Given the description of an element on the screen output the (x, y) to click on. 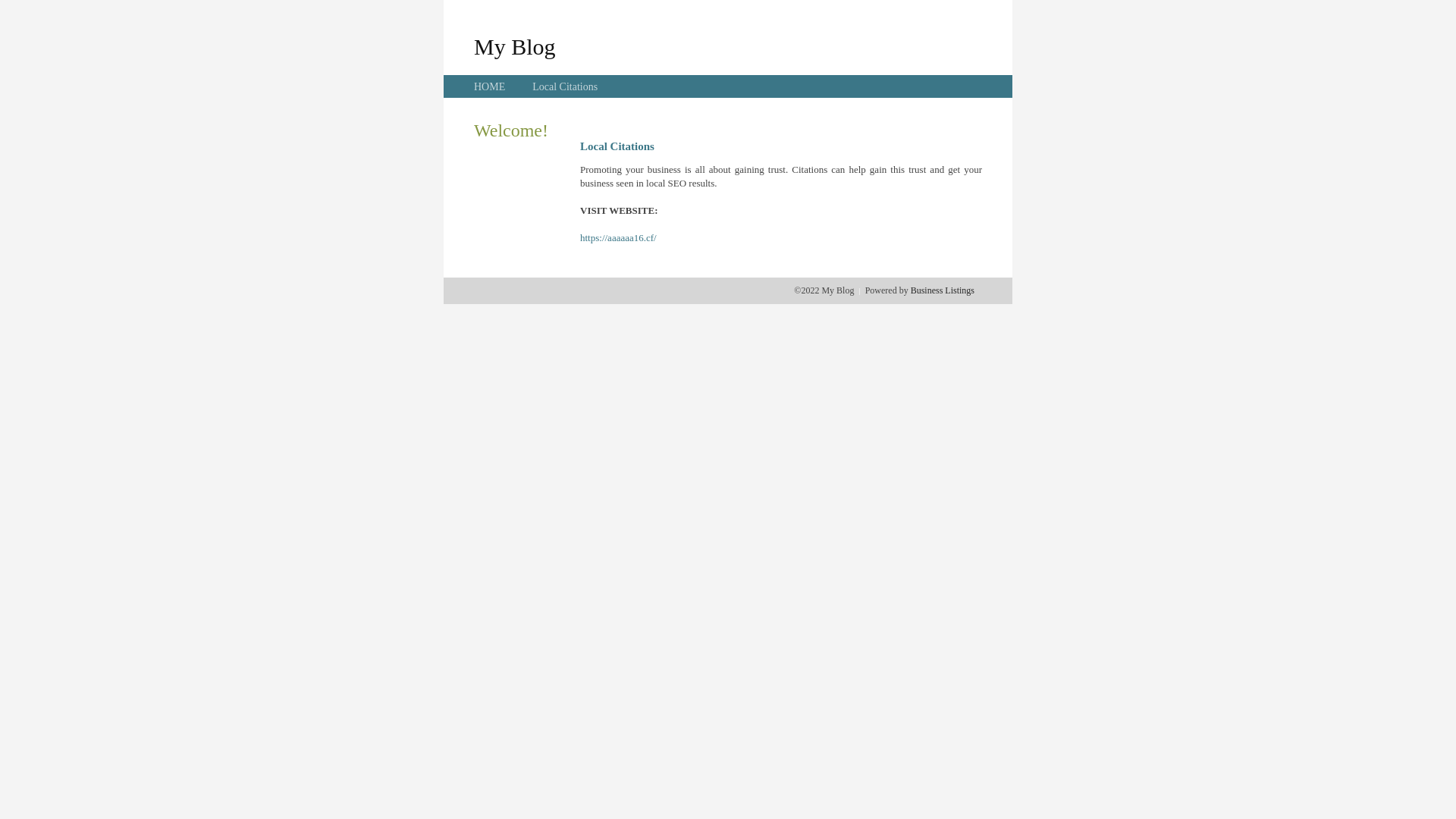
Local Citations Element type: text (564, 86)
https://aaaaaa16.cf/ Element type: text (618, 237)
Business Listings Element type: text (942, 290)
HOME Element type: text (489, 86)
My Blog Element type: text (514, 46)
